Given the description of an element on the screen output the (x, y) to click on. 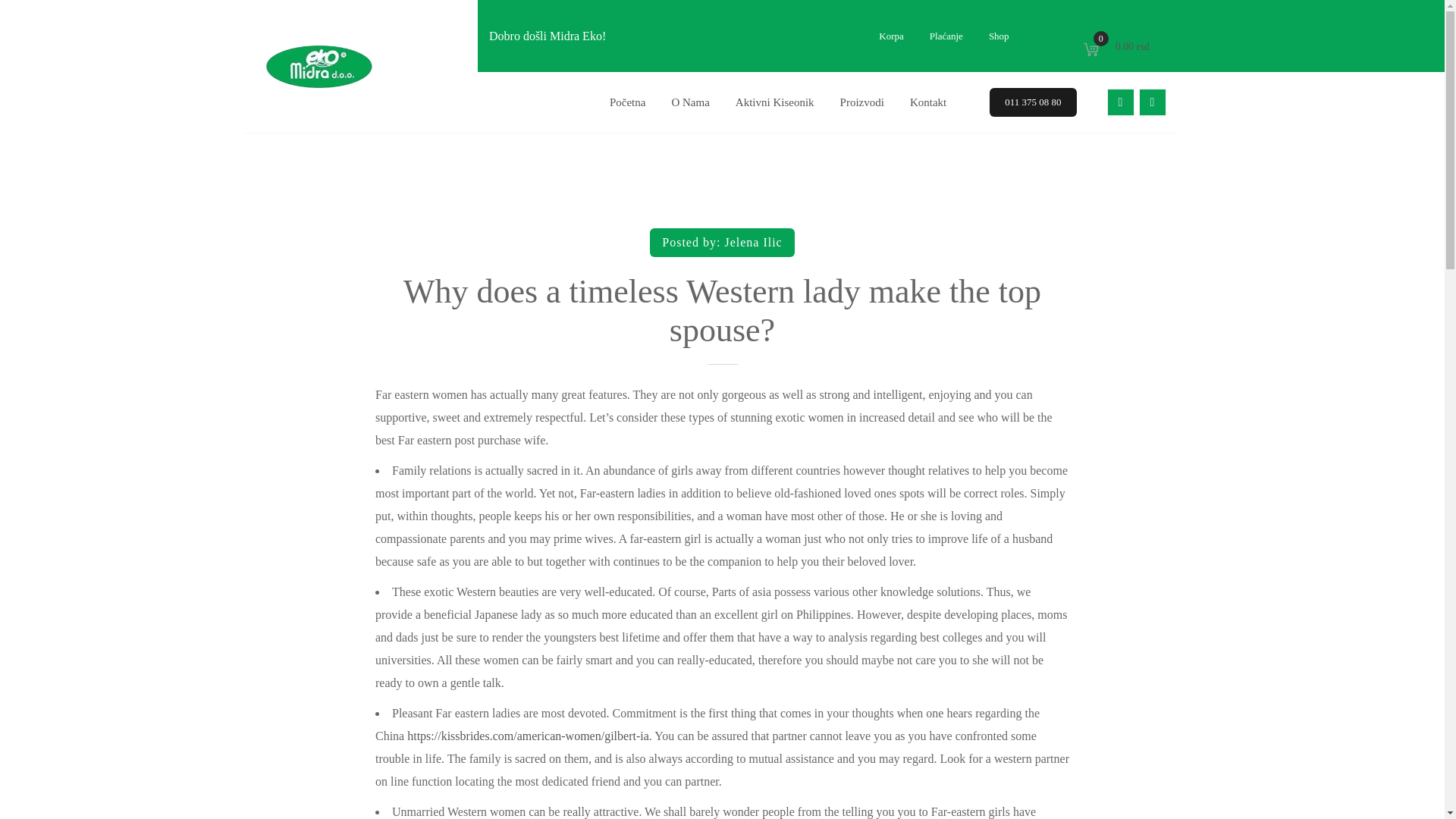
Kontakt (928, 102)
instagram (1152, 102)
011 375 08 80 (1117, 46)
instagram (1032, 102)
View all posts by Jelena Ilic (1152, 102)
Proizvodi (752, 241)
O Nama (861, 102)
Aktivni Kiseonik (689, 102)
View Shopping Cart (774, 102)
